Given the description of an element on the screen output the (x, y) to click on. 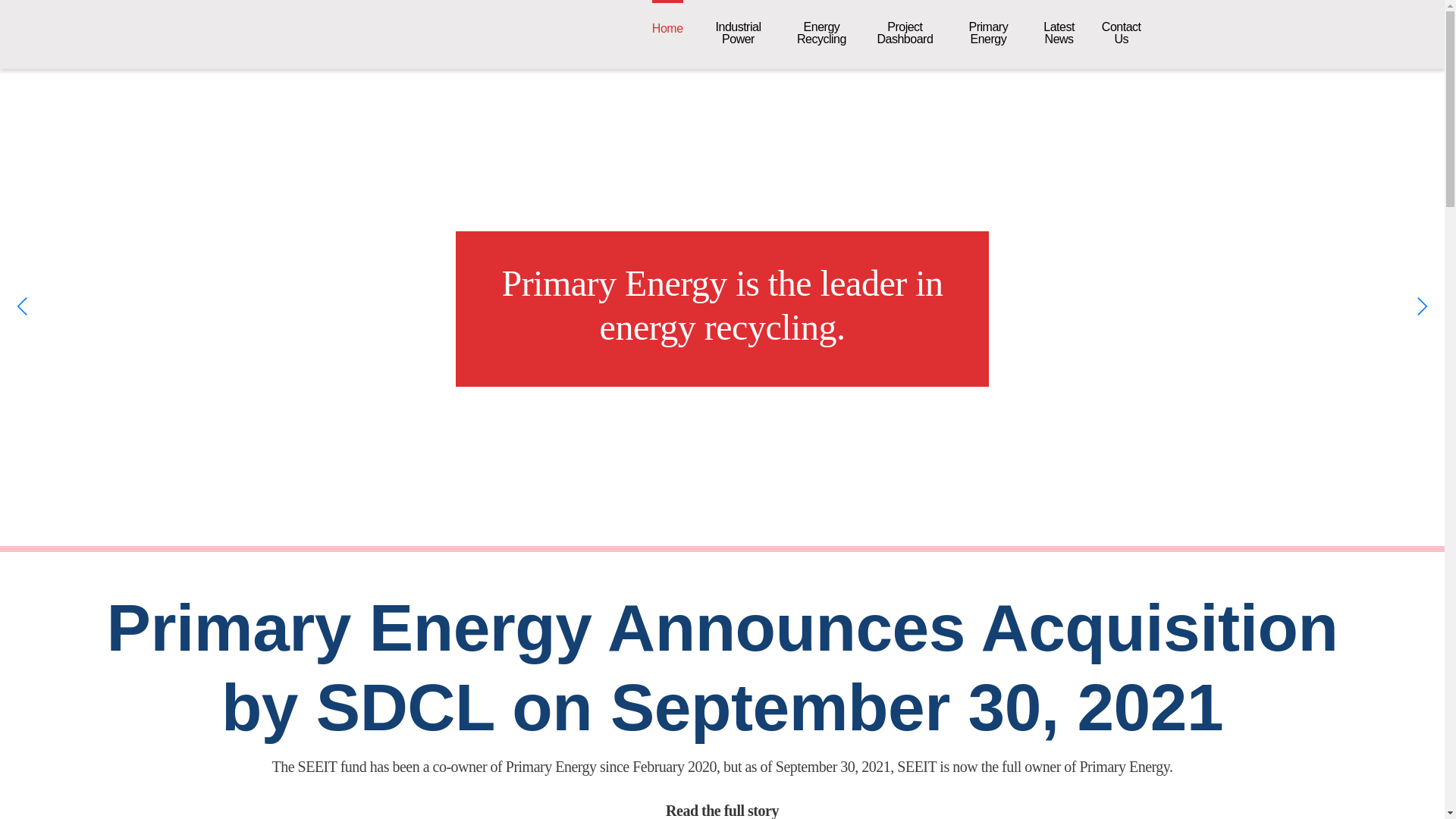
Industrial Power (736, 33)
Primary Energy (987, 33)
Submit (216, 24)
Energy Recycling (820, 33)
Home (668, 28)
Read the full story (721, 810)
Project Dashboard (904, 33)
Primary Energy (1120, 33)
